Given the description of an element on the screen output the (x, y) to click on. 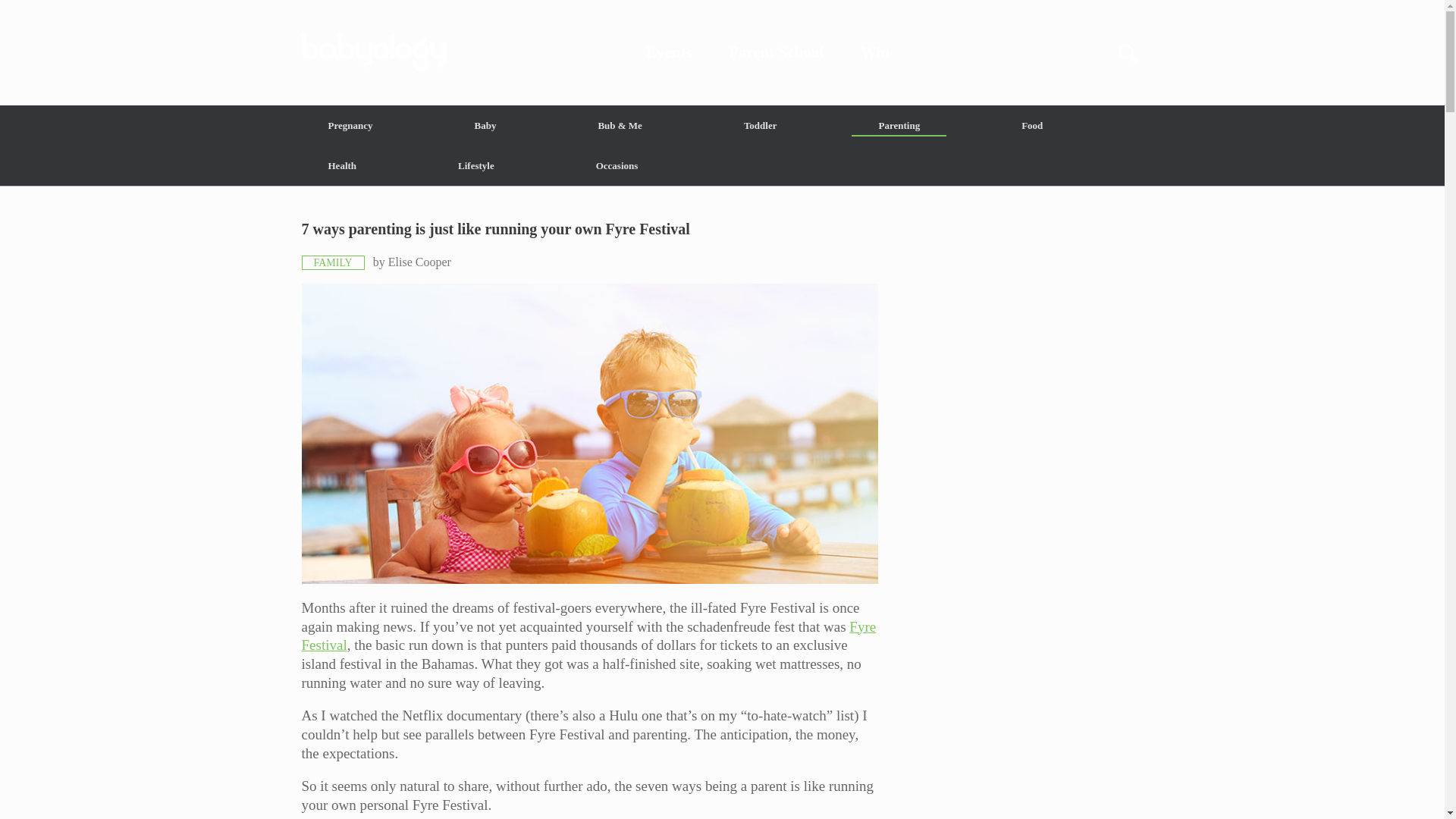
Elise Cooper (419, 261)
FAMILY (333, 262)
Events (669, 52)
Babyology (721, 52)
View all posts by Elise Cooper (419, 261)
Occasions (617, 165)
Parenting (898, 125)
Food (1031, 125)
Win (874, 52)
Lifestyle (475, 165)
Baby (484, 125)
Pregnancy (349, 125)
Health (342, 165)
Parent School (776, 52)
Fyre Festival (588, 636)
